Given the description of an element on the screen output the (x, y) to click on. 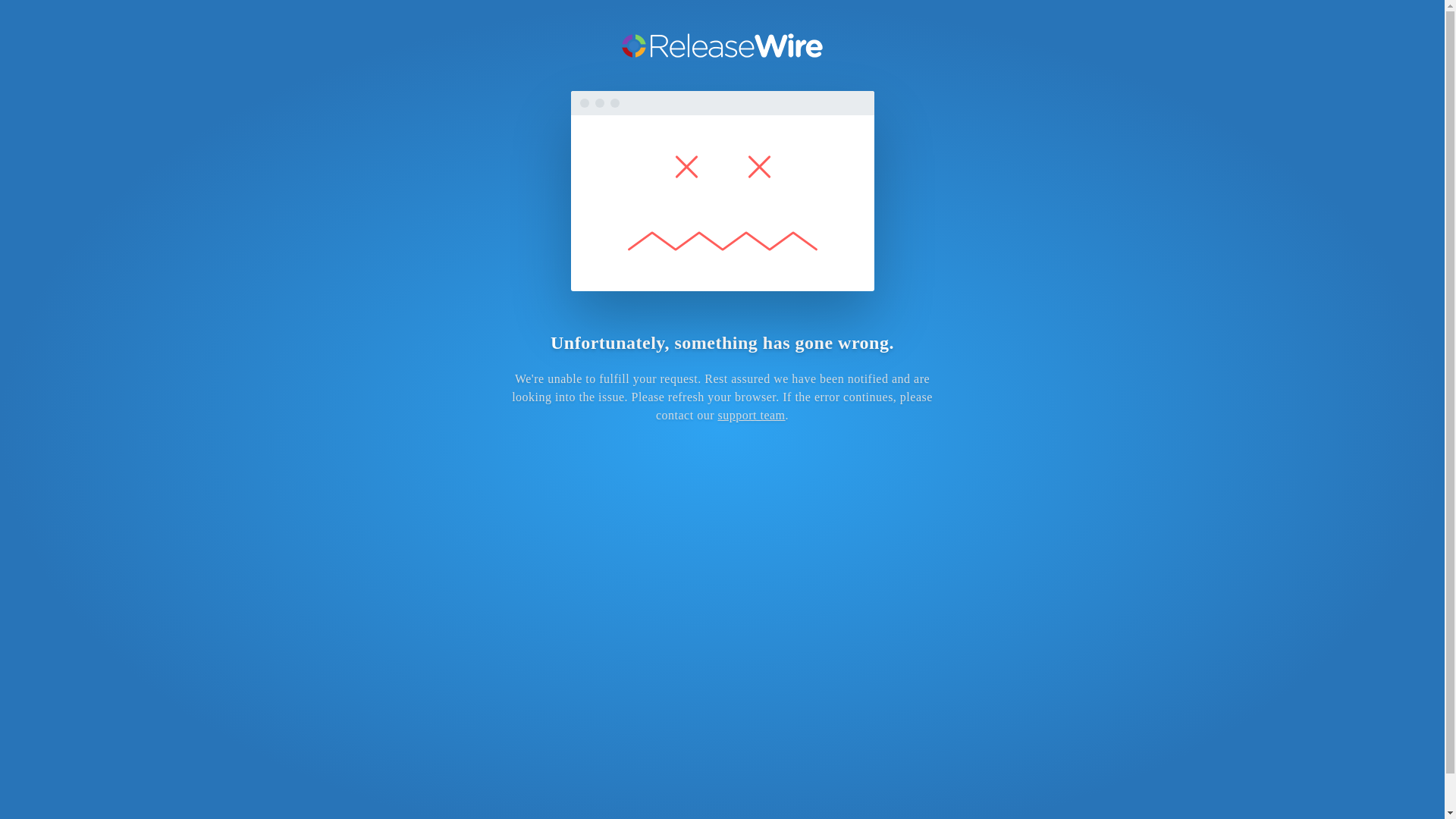
support team (750, 414)
